Given the description of an element on the screen output the (x, y) to click on. 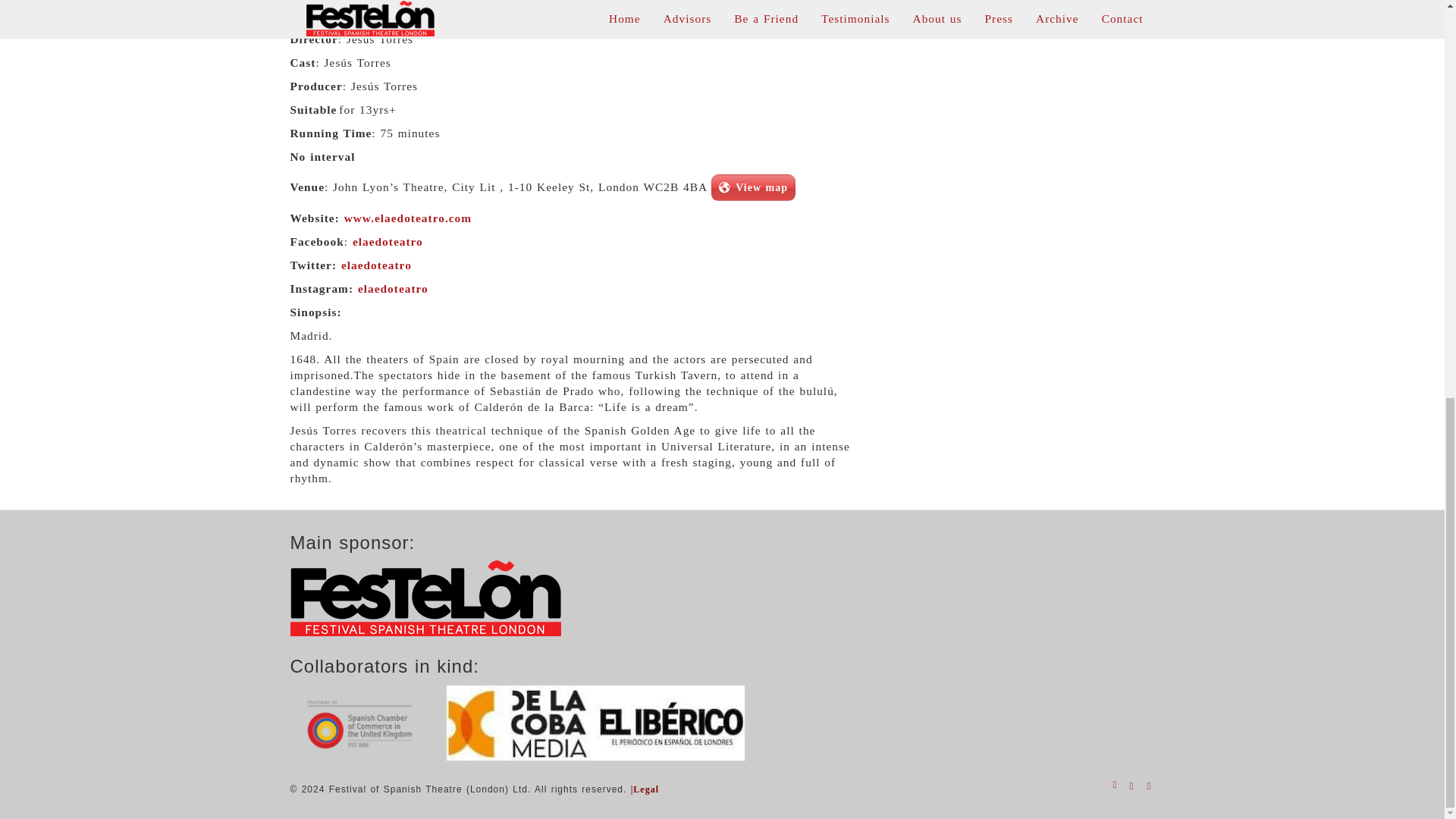
www.elaedoteatro.com (407, 217)
elaedoteatro  (390, 241)
elaedoteatro  (378, 264)
View map (752, 187)
elaedoteatro (393, 287)
